Given the description of an element on the screen output the (x, y) to click on. 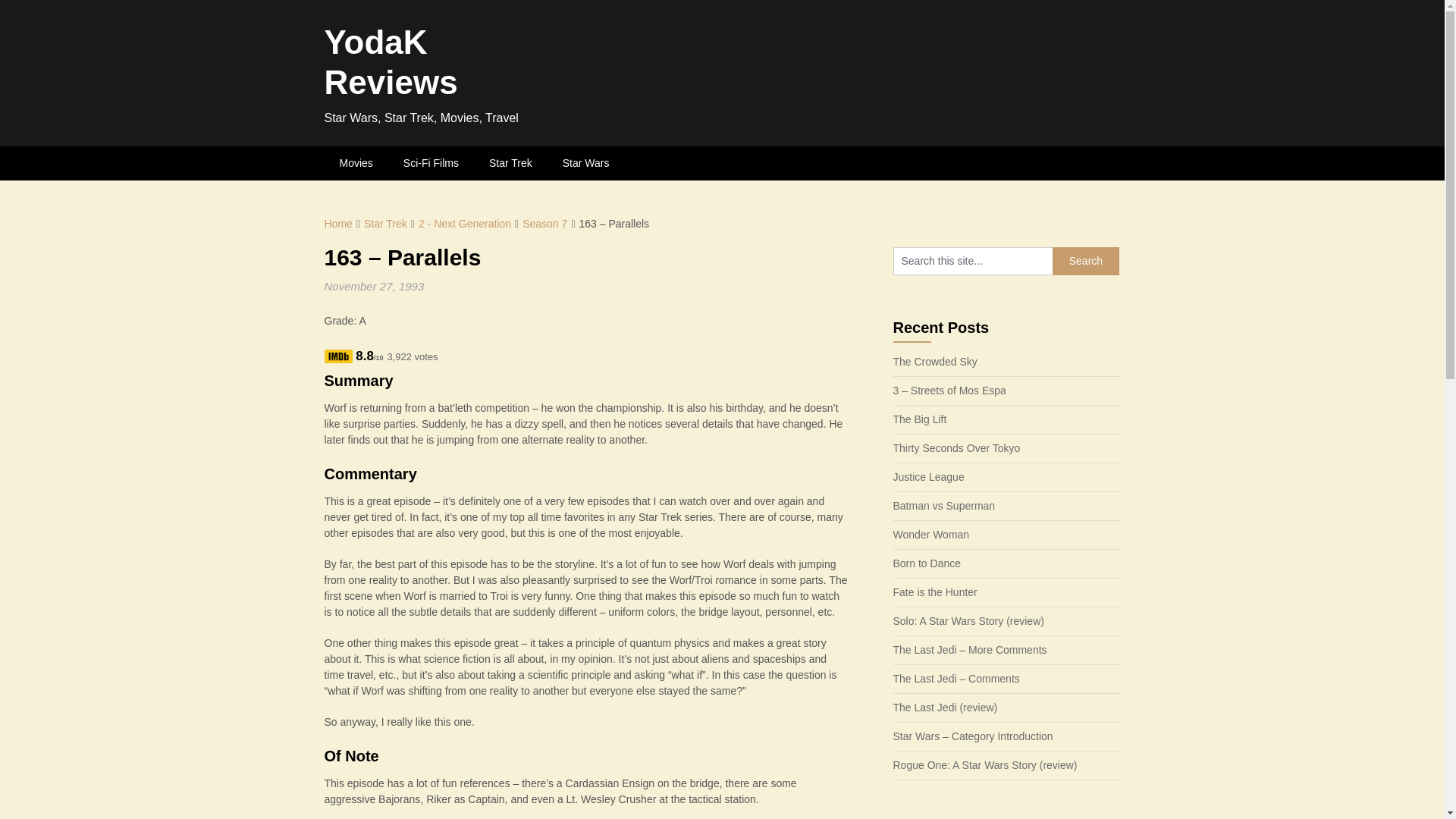
Movies (356, 163)
Search (1085, 261)
Star Trek (510, 163)
YodaK Reviews (391, 61)
Search this site... (972, 261)
Sci-Fi Films (431, 163)
